Given the description of an element on the screen output the (x, y) to click on. 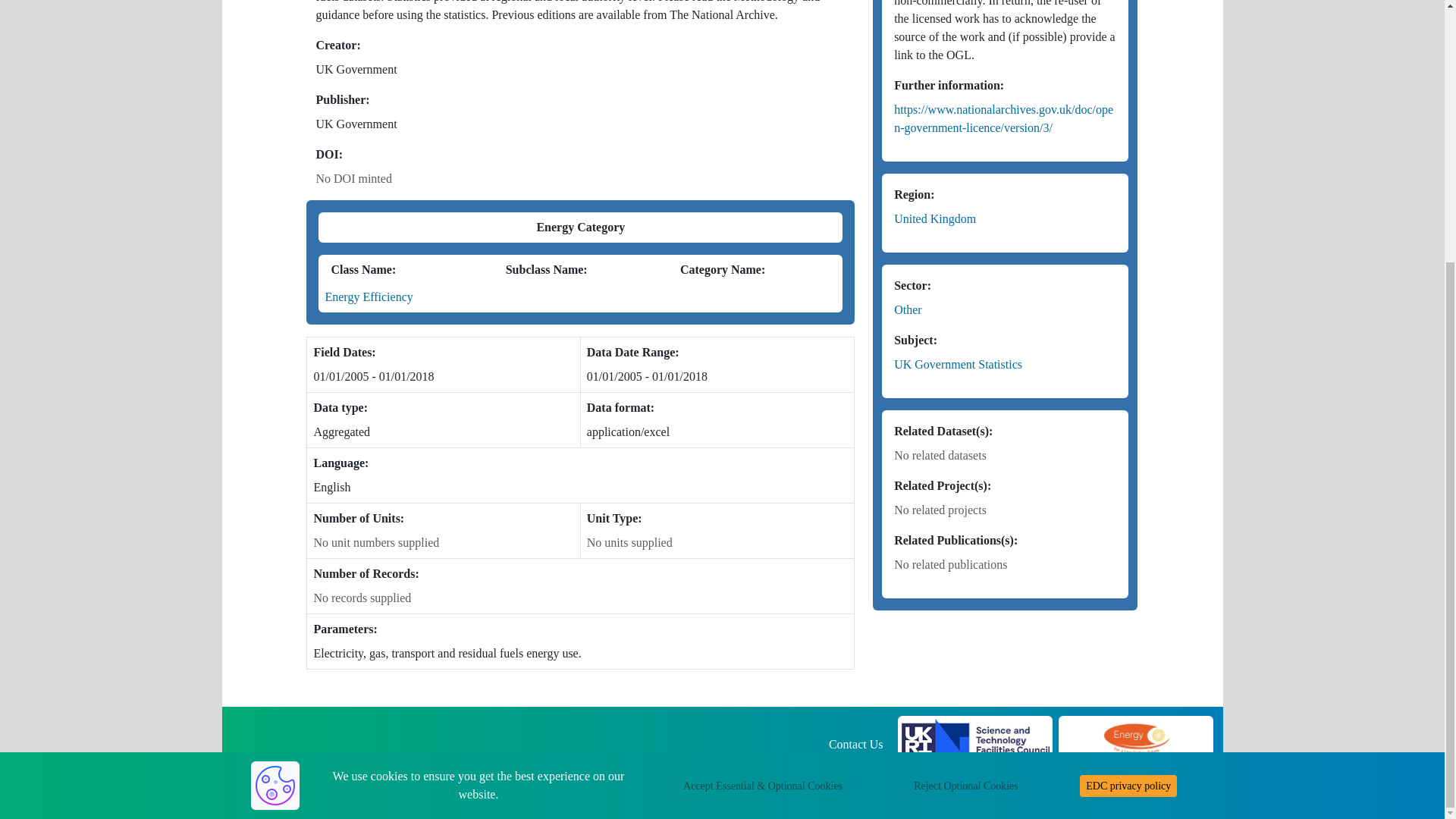
Reject Optional Cookies (966, 408)
Privacy Policy (847, 762)
United Kingdom (934, 218)
Contact Us (855, 744)
Other (907, 309)
UK Government Statistics (957, 364)
Energy Efficiency (368, 296)
Disclaimer (769, 762)
EDC privacy policy (1128, 408)
scroll for more (1374, 410)
